Given the description of an element on the screen output the (x, y) to click on. 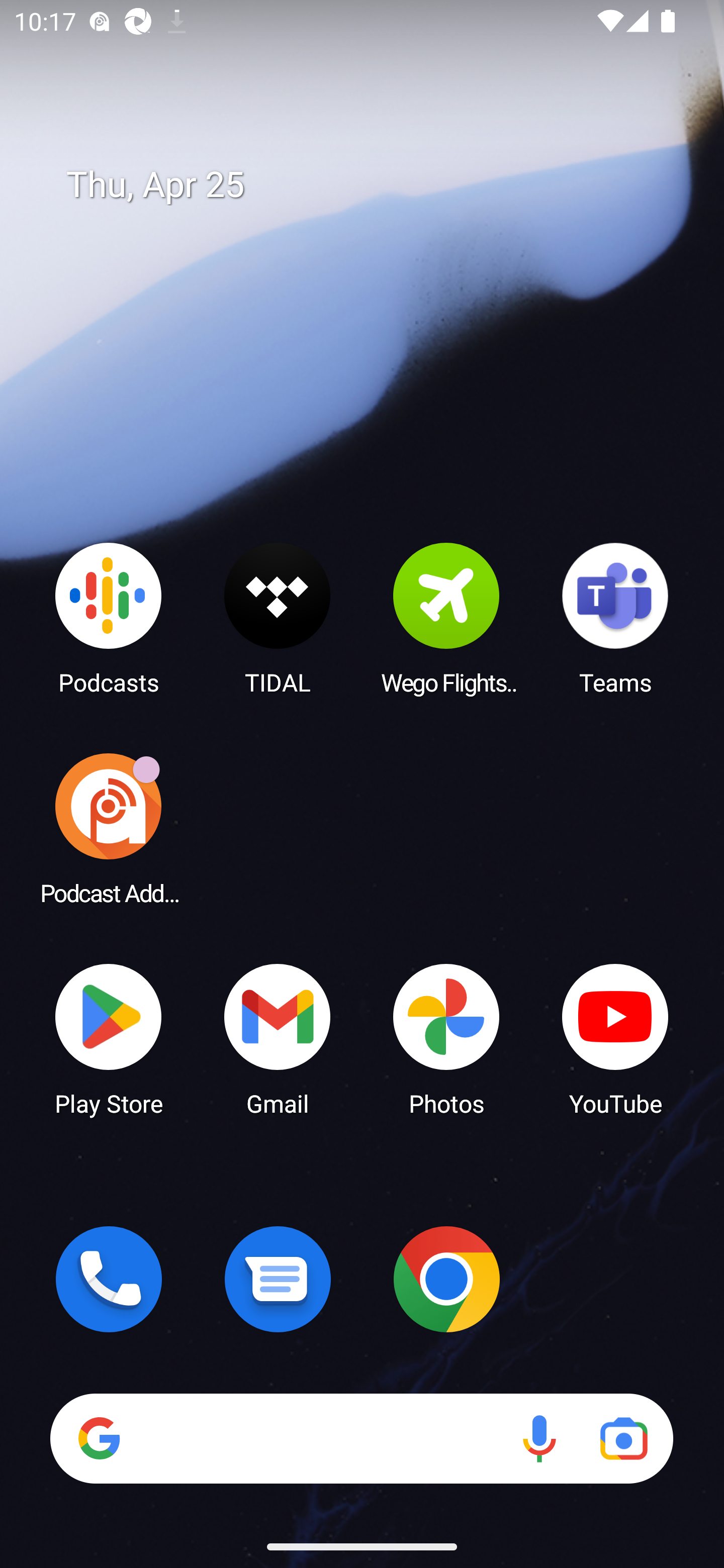
Thu, Apr 25 (375, 184)
Podcasts (108, 617)
TIDAL (277, 617)
Wego Flights & Hotels (445, 617)
Teams (615, 617)
Play Store (108, 1038)
Gmail (277, 1038)
Photos (445, 1038)
YouTube (615, 1038)
Phone (108, 1279)
Messages (277, 1279)
Chrome (446, 1279)
Search Voice search Google Lens (361, 1438)
Voice search (539, 1438)
Google Lens (623, 1438)
